Given the description of an element on the screen output the (x, y) to click on. 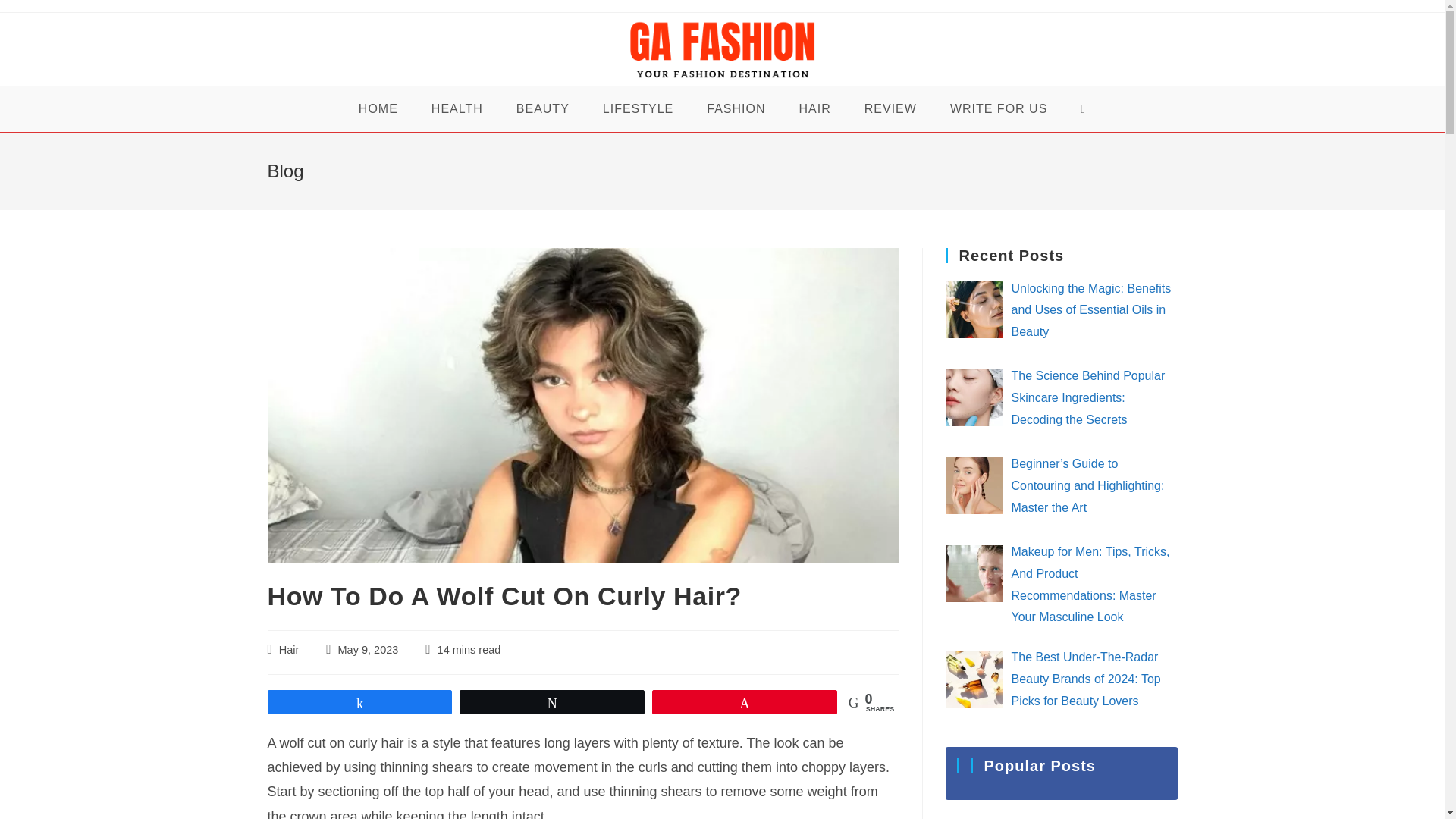
HAIR (815, 108)
LIFESTYLE (638, 108)
REVIEW (890, 108)
FASHION (735, 108)
WRITE FOR US (998, 108)
BEAUTY (542, 108)
HEALTH (456, 108)
HOME (378, 108)
Hair (289, 649)
